Given the description of an element on the screen output the (x, y) to click on. 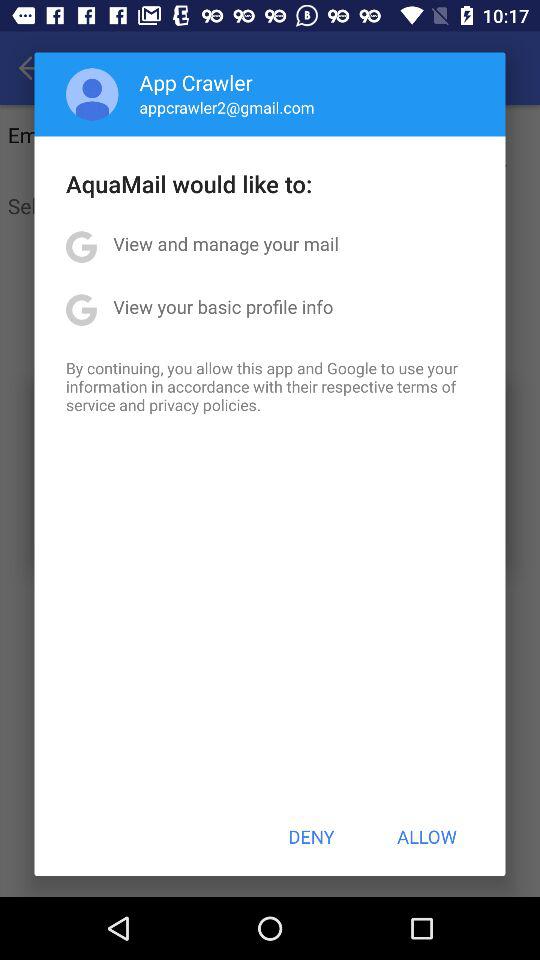
open item below by continuing you app (311, 836)
